Given the description of an element on the screen output the (x, y) to click on. 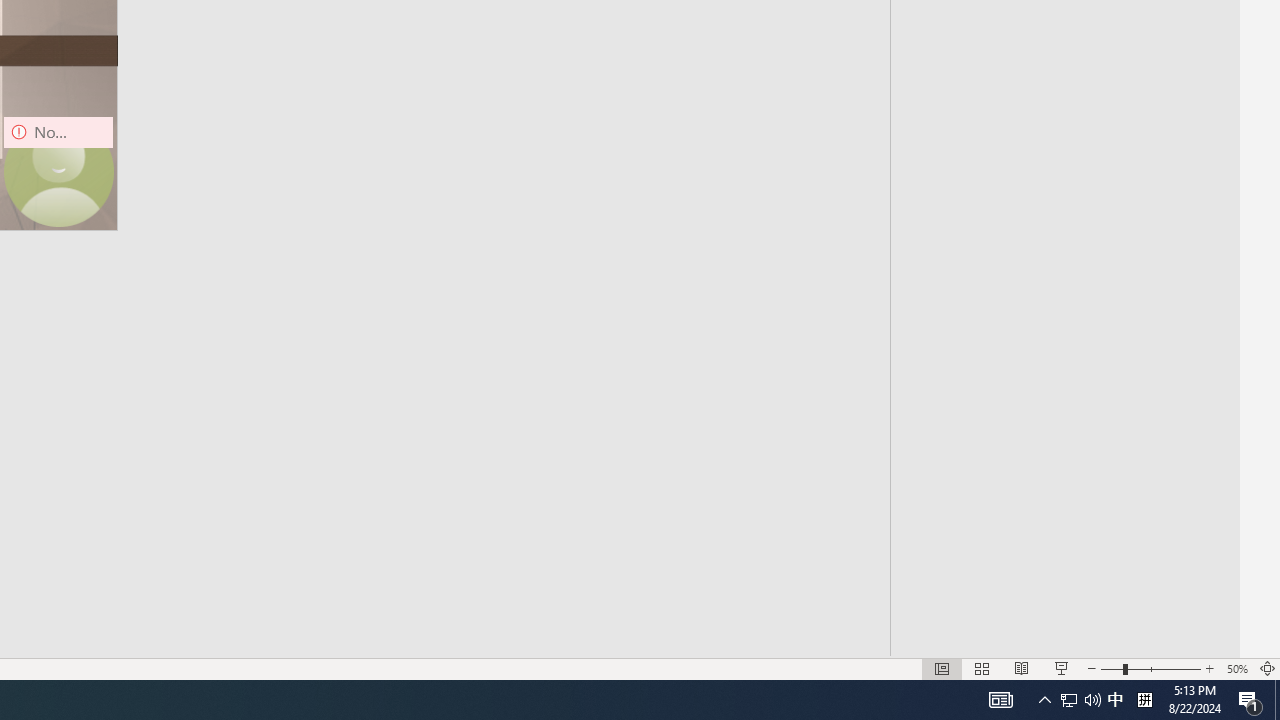
Chinese Traditional (1063, 367)
Dogri (1063, 613)
Bosnian (1063, 81)
Zoom 50% (1236, 668)
Chinese Simplified (1063, 326)
Croatian (1063, 408)
Bulgarian (1063, 121)
Bodo (1063, 40)
Dutch (1063, 654)
Danish (1063, 490)
